Given the description of an element on the screen output the (x, y) to click on. 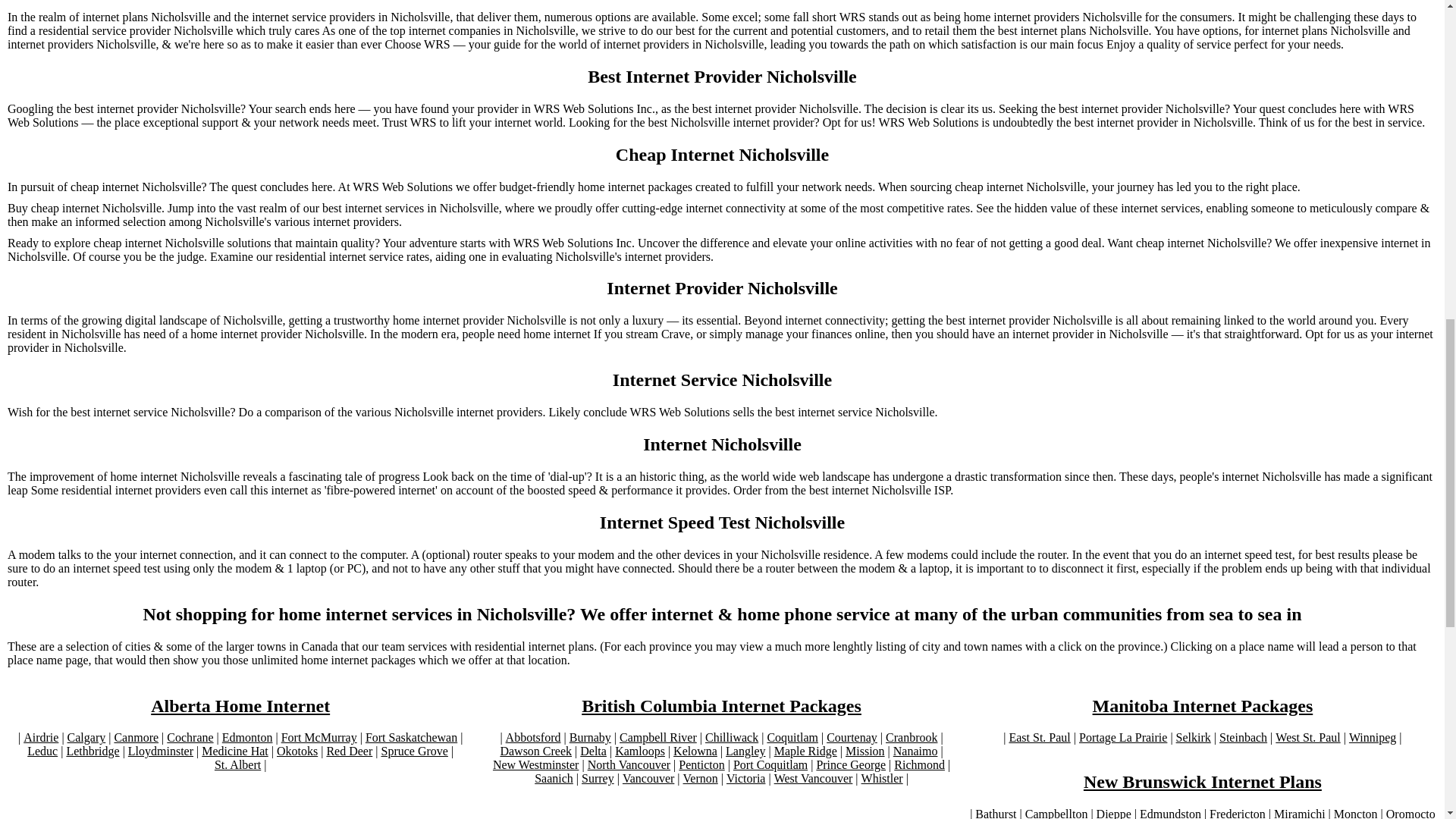
Okotoks (296, 751)
Alberta Home Internet (240, 706)
Leduc (42, 751)
Lloydminster (160, 751)
Airdrie (40, 737)
Fort Saskatchewan (411, 737)
Cochrane (189, 737)
Abbotsford (532, 737)
Burnaby (590, 737)
Campbell River (658, 737)
